Given the description of an element on the screen output the (x, y) to click on. 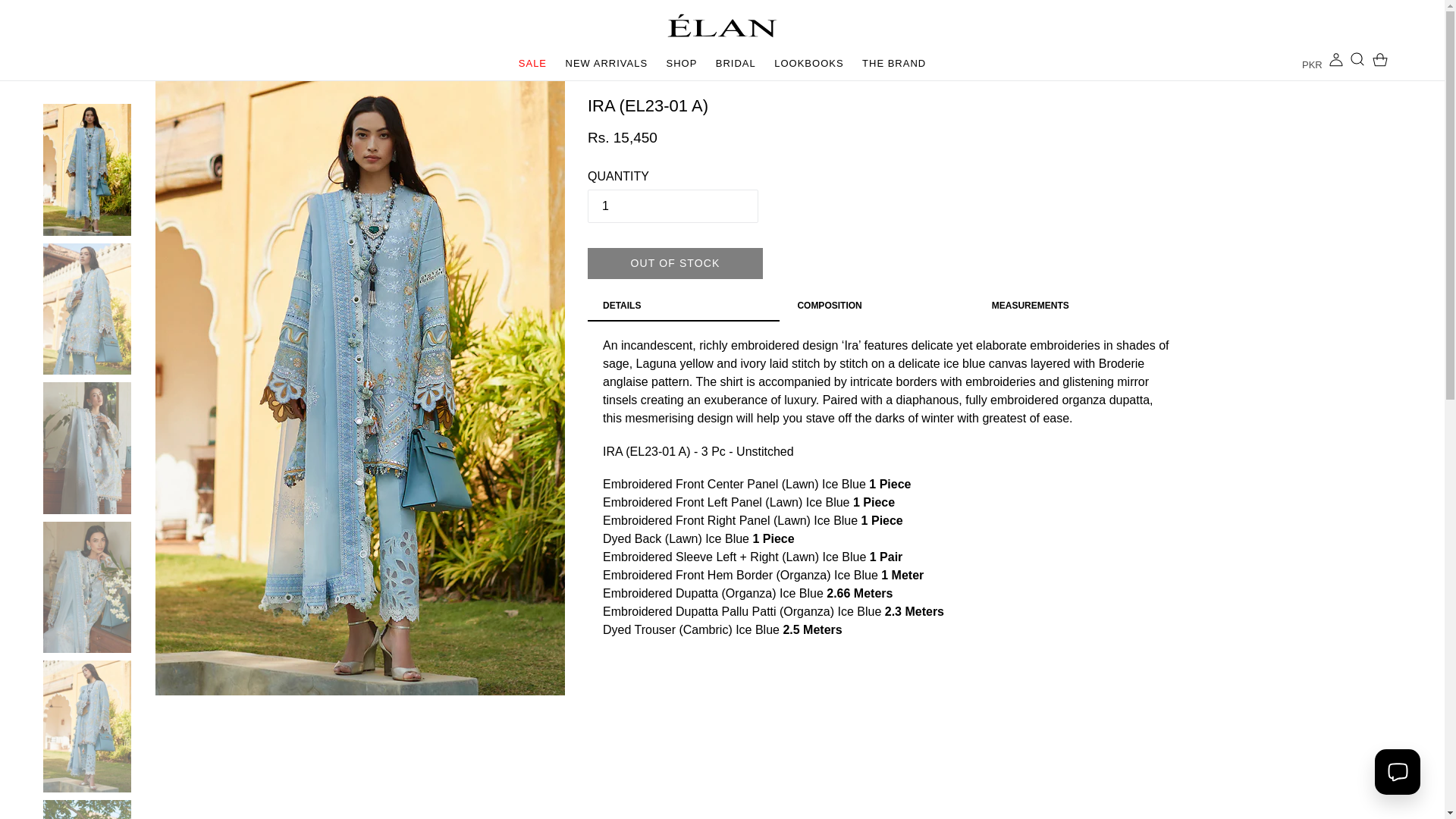
Skip to content (808, 64)
Log in (606, 64)
SALE (1380, 59)
1 (1335, 59)
